Given the description of an element on the screen output the (x, y) to click on. 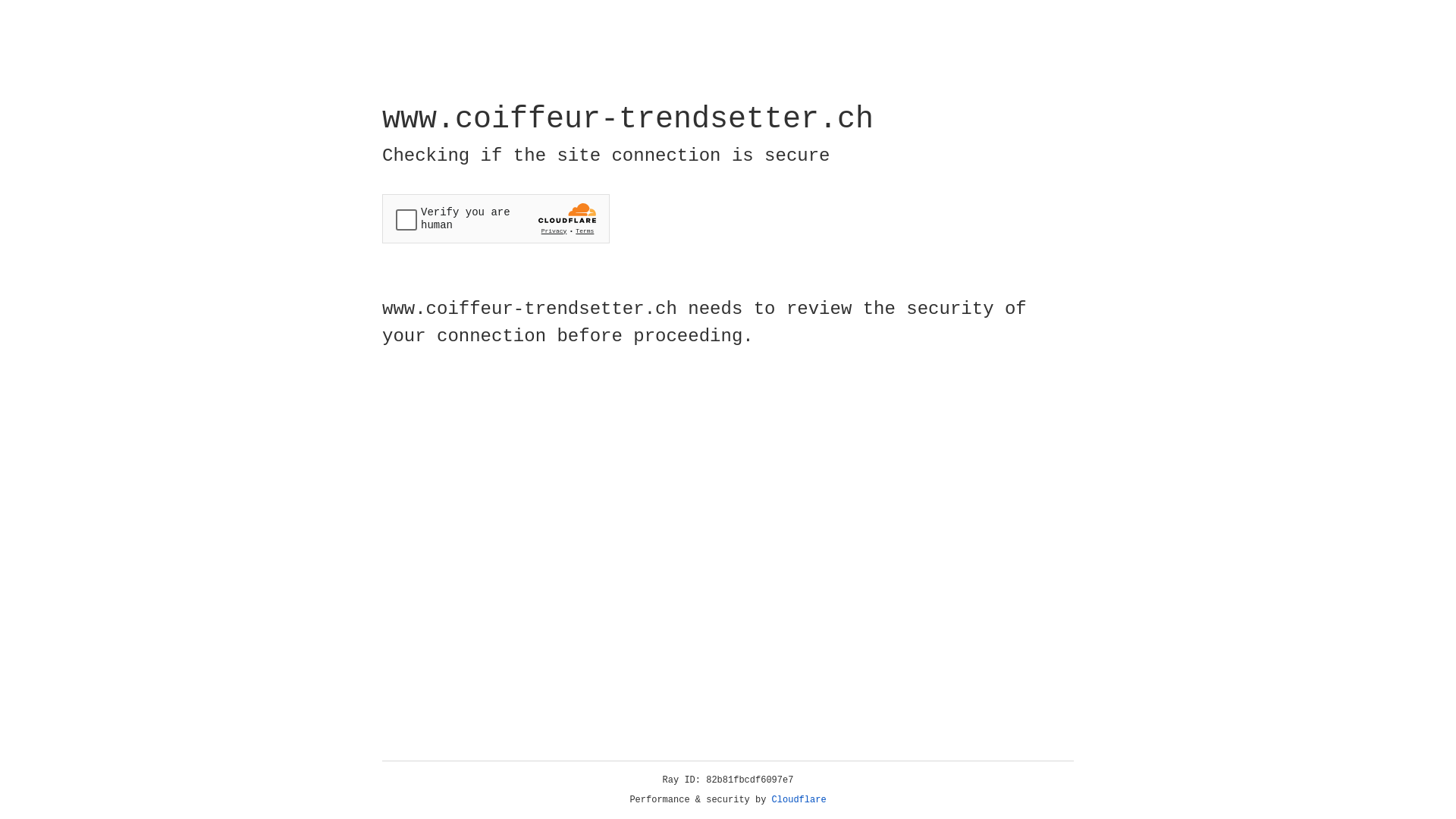
Cloudflare Element type: text (798, 799)
Widget containing a Cloudflare security challenge Element type: hover (495, 218)
